Given the description of an element on the screen output the (x, y) to click on. 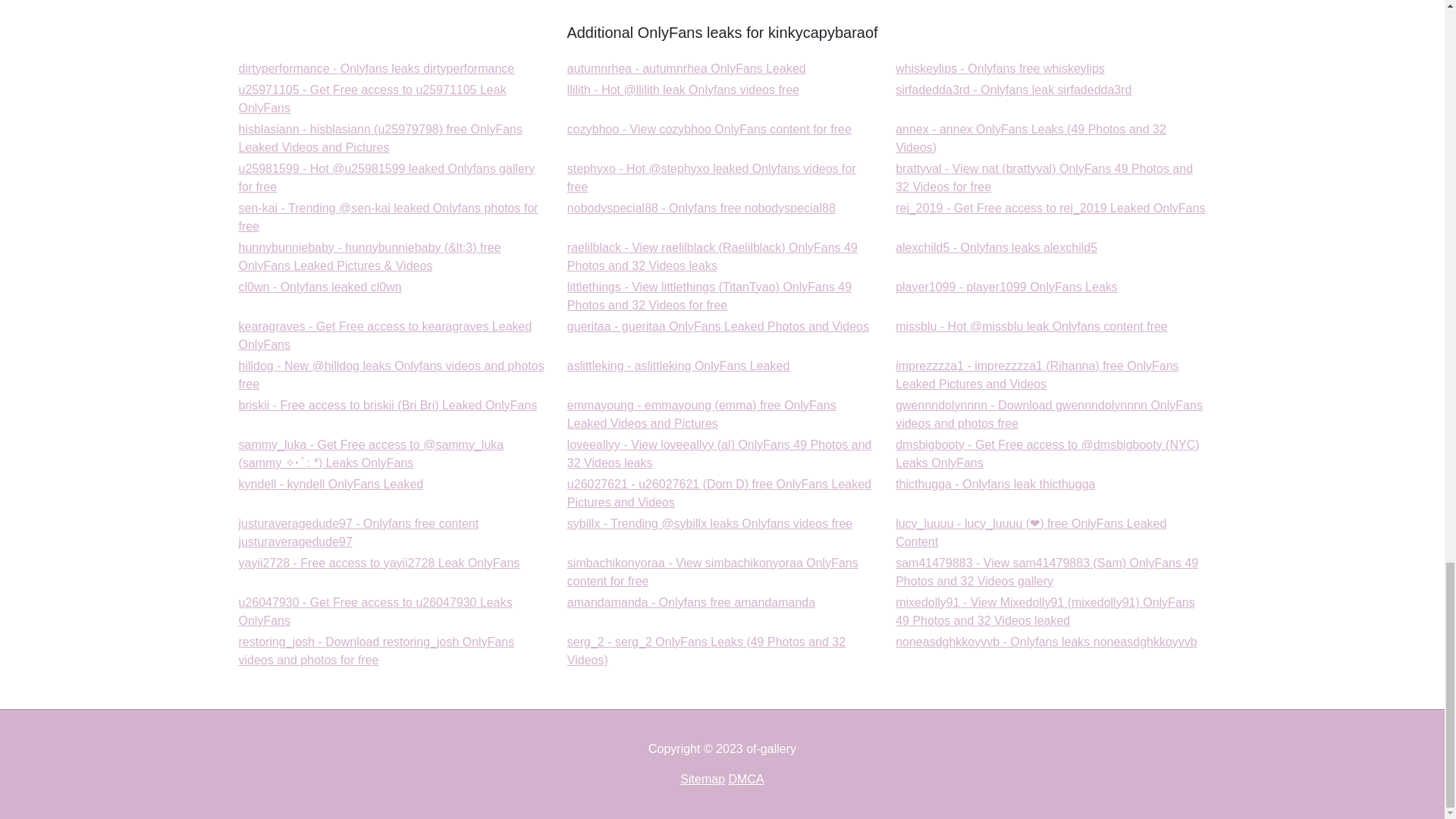
whiskeylips - Onlyfans free whiskeylips (1000, 68)
sirfadedda3rd - Onlyfans leak sirfadedda3rd (1013, 89)
cozybhoo - View cozybhoo OnlyFans content for free (686, 68)
dirtyperformance - Onlyfans leaks dirtyperformance (1013, 89)
autumnrhea - autumnrhea OnlyFans Leaked (371, 98)
u25971105 - Get Free access to u25971105 Leak OnlyFans (701, 207)
